Given the description of an element on the screen output the (x, y) to click on. 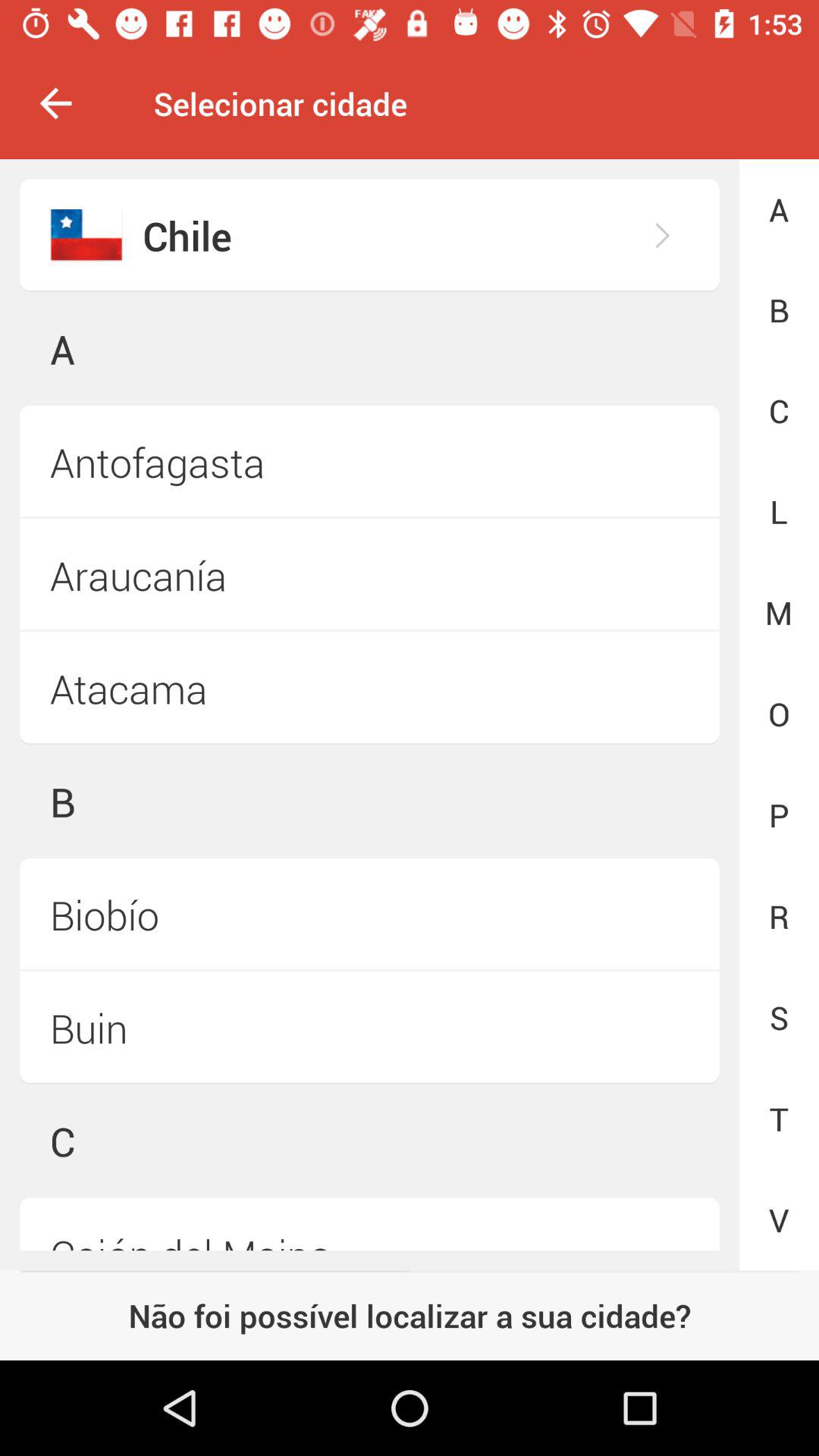
select the icon next to the m icon (369, 688)
